Given the description of an element on the screen output the (x, y) to click on. 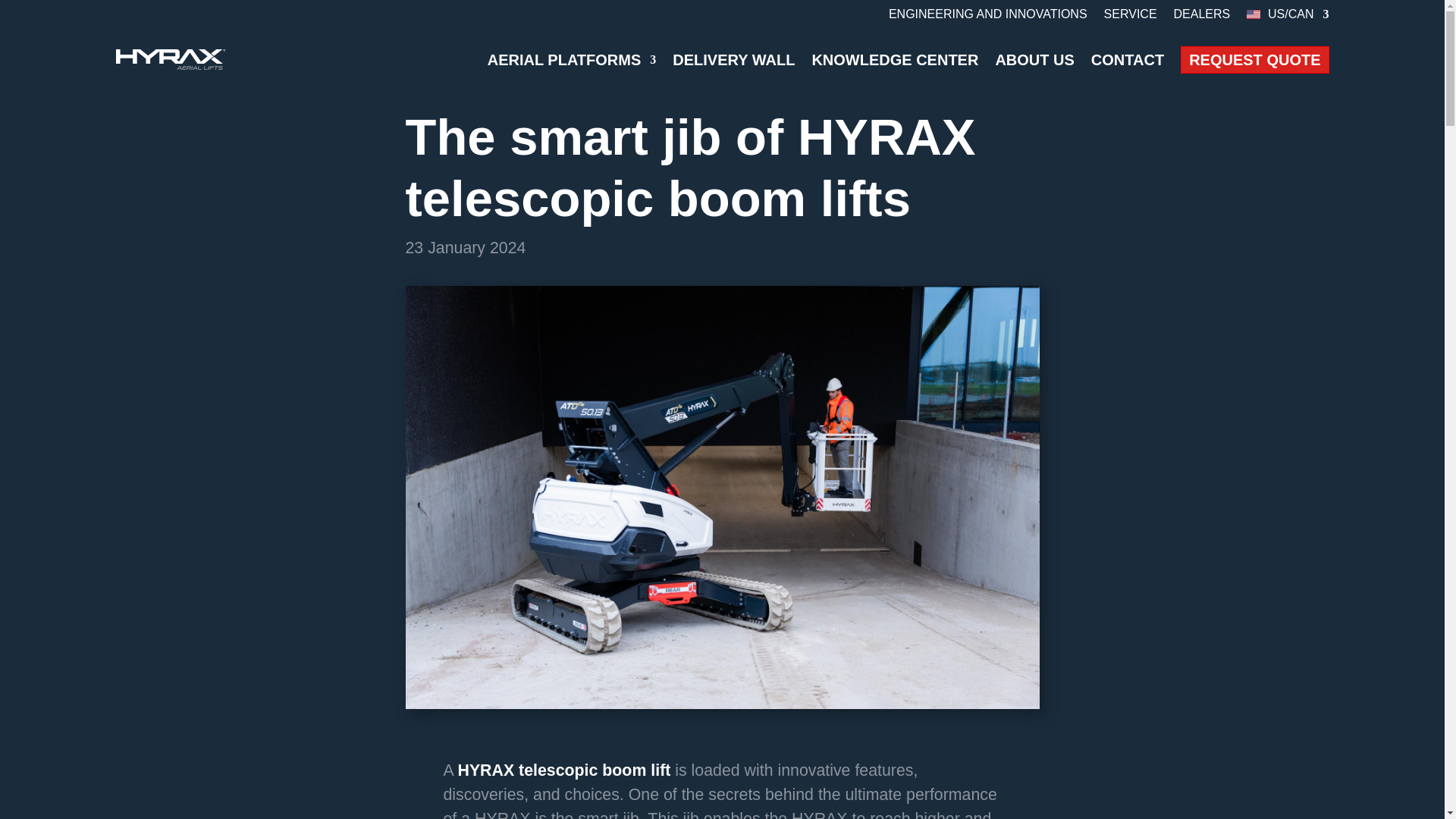
ENGINEERING AND INNOVATIONS (987, 17)
AERIAL PLATFORMS (571, 58)
SERVICE (1130, 17)
DEALERS (1201, 17)
hyrax-50-13-hitachi-99b-hoogwerkers (721, 703)
